Given the description of an element on the screen output the (x, y) to click on. 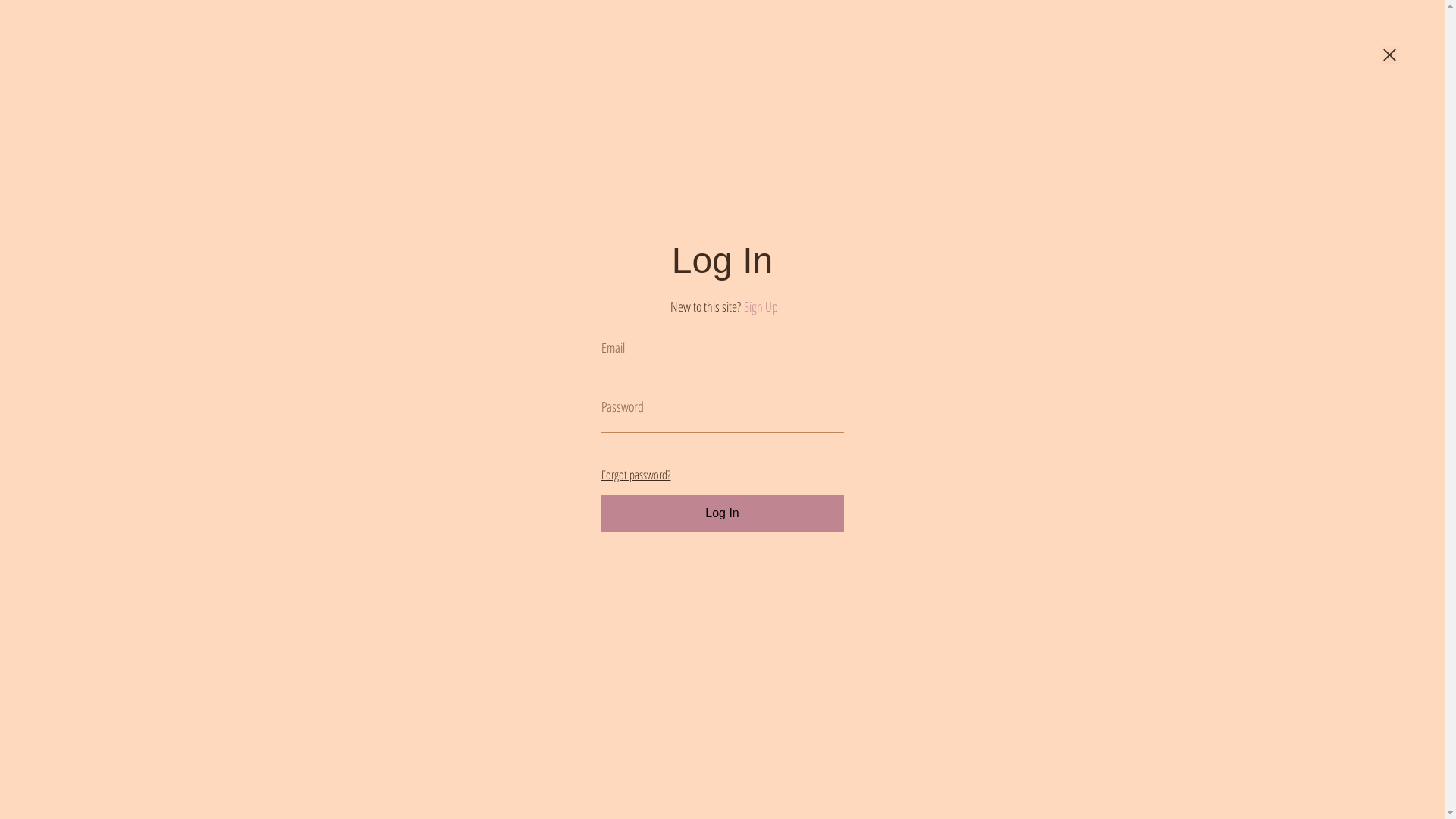
Log In Element type: text (721, 513)
Sign Up Element type: text (760, 306)
Forgot password? Element type: text (635, 474)
